Given the description of an element on the screen output the (x, y) to click on. 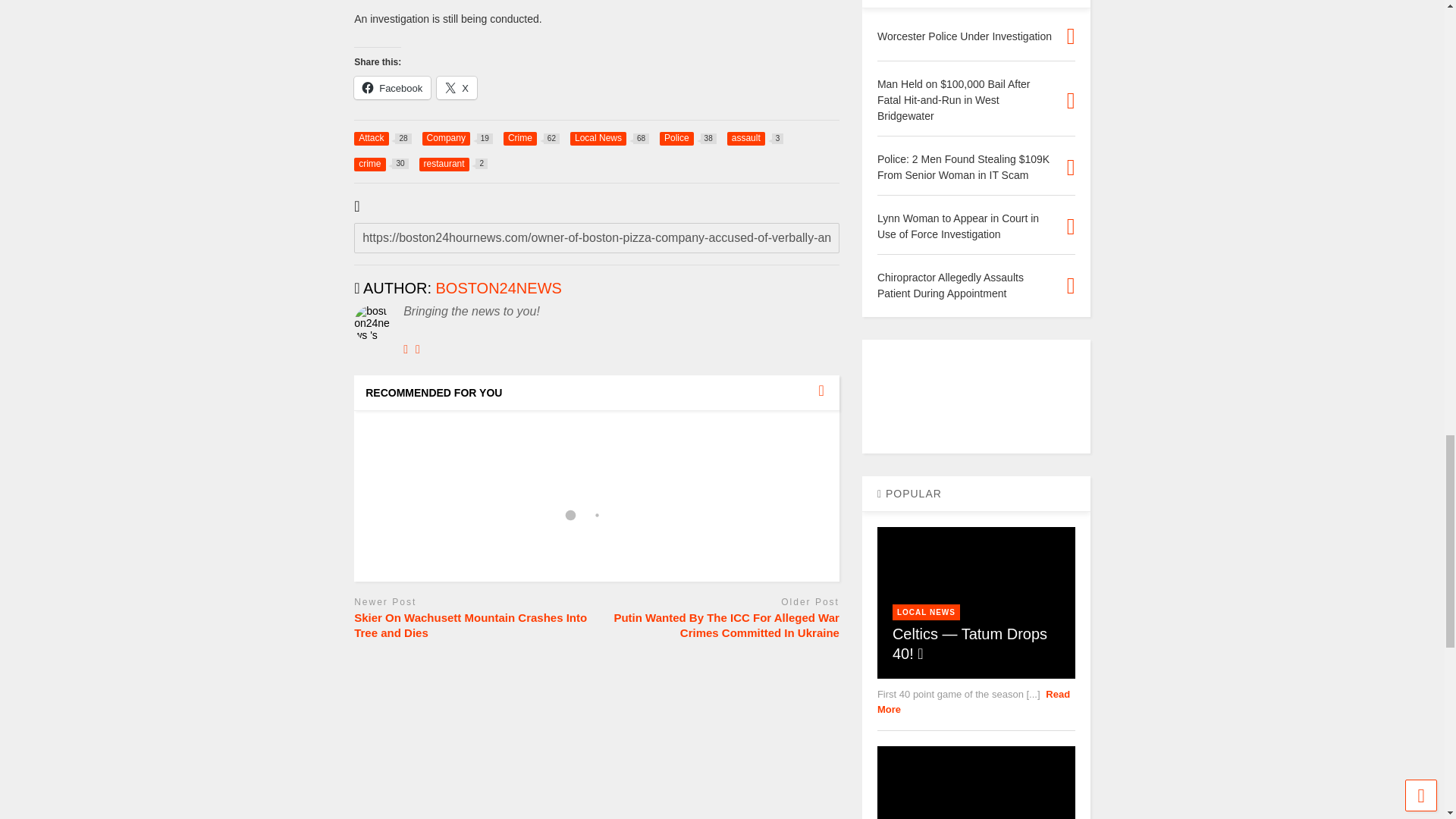
author profile (380, 163)
BOSTON24NEWS (498, 288)
Facebook (453, 163)
X (754, 138)
Click to share on Facebook (498, 288)
Click to share on X (531, 138)
Skier On Wachusett Mountain Crashes Into Tree and Dies (391, 87)
